Given the description of an element on the screen output the (x, y) to click on. 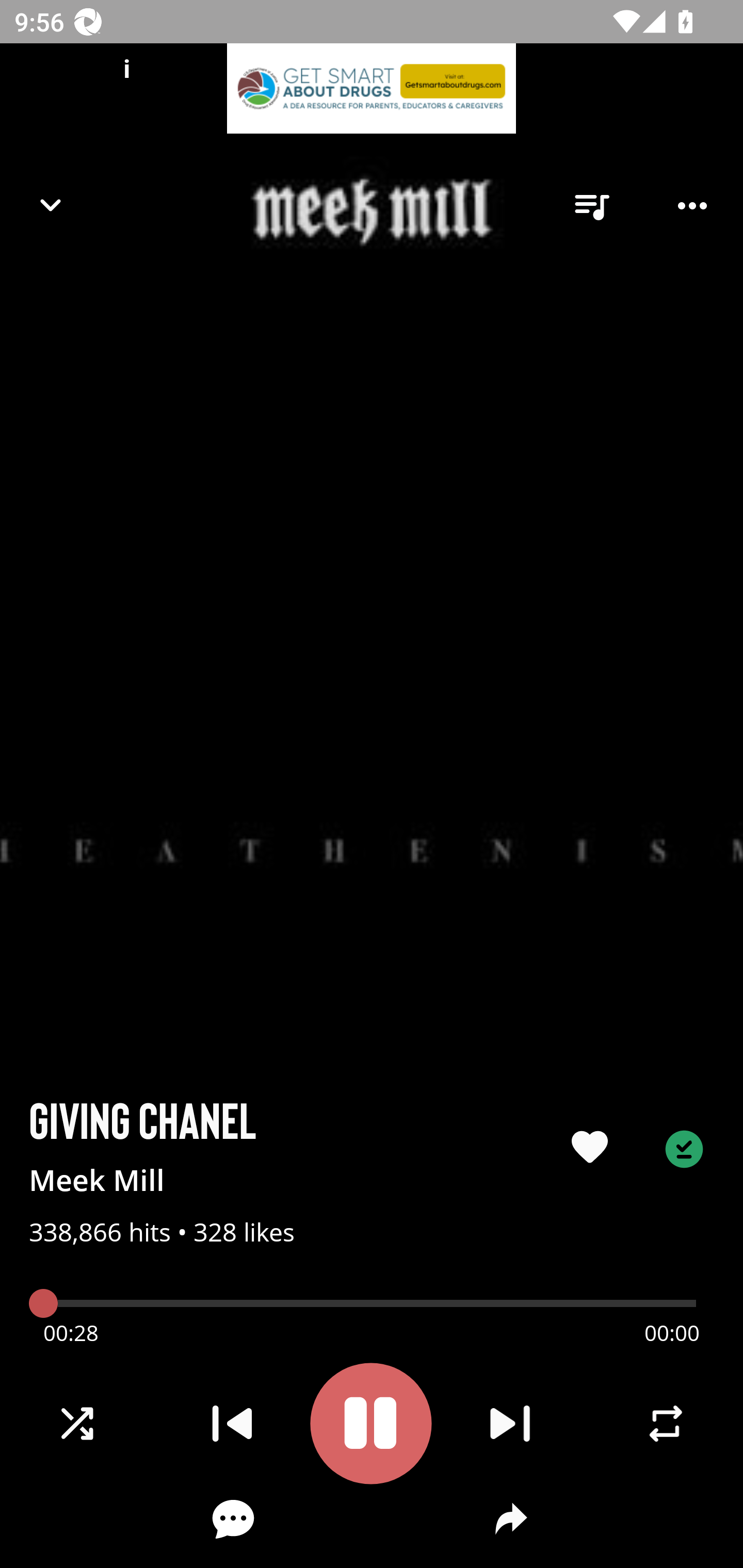
Navigate up (50, 205)
queue (590, 206)
Player options (692, 206)
